Given the description of an element on the screen output the (x, y) to click on. 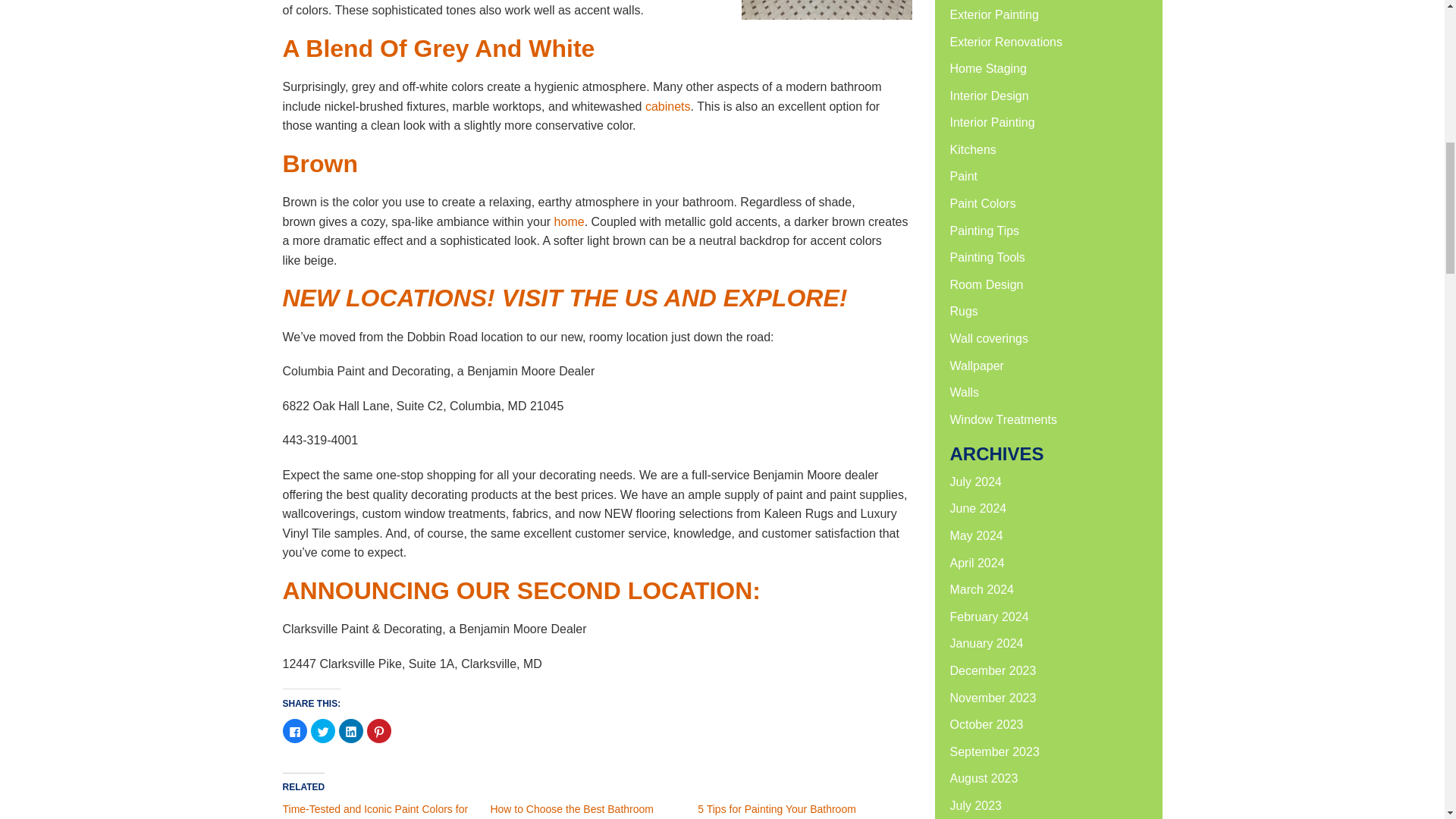
Click to share on Pinterest (378, 730)
Click to share on LinkedIn (349, 730)
Paint Colors (981, 203)
Time-Tested and Iconic Paint Colors for Your Bathroom (374, 811)
Click to share on Facebook (293, 730)
Interior Painting (991, 122)
Exterior Renovations (1005, 41)
home (569, 221)
Exterior Painting (993, 14)
Kitchens (972, 149)
Home Staging (987, 68)
How to Choose the Best Bathroom Paint Colors (571, 811)
Click to share on Twitter (322, 730)
Interior Design (988, 95)
5 Tips for Painting Your Bathroom (776, 808)
